Given the description of an element on the screen output the (x, y) to click on. 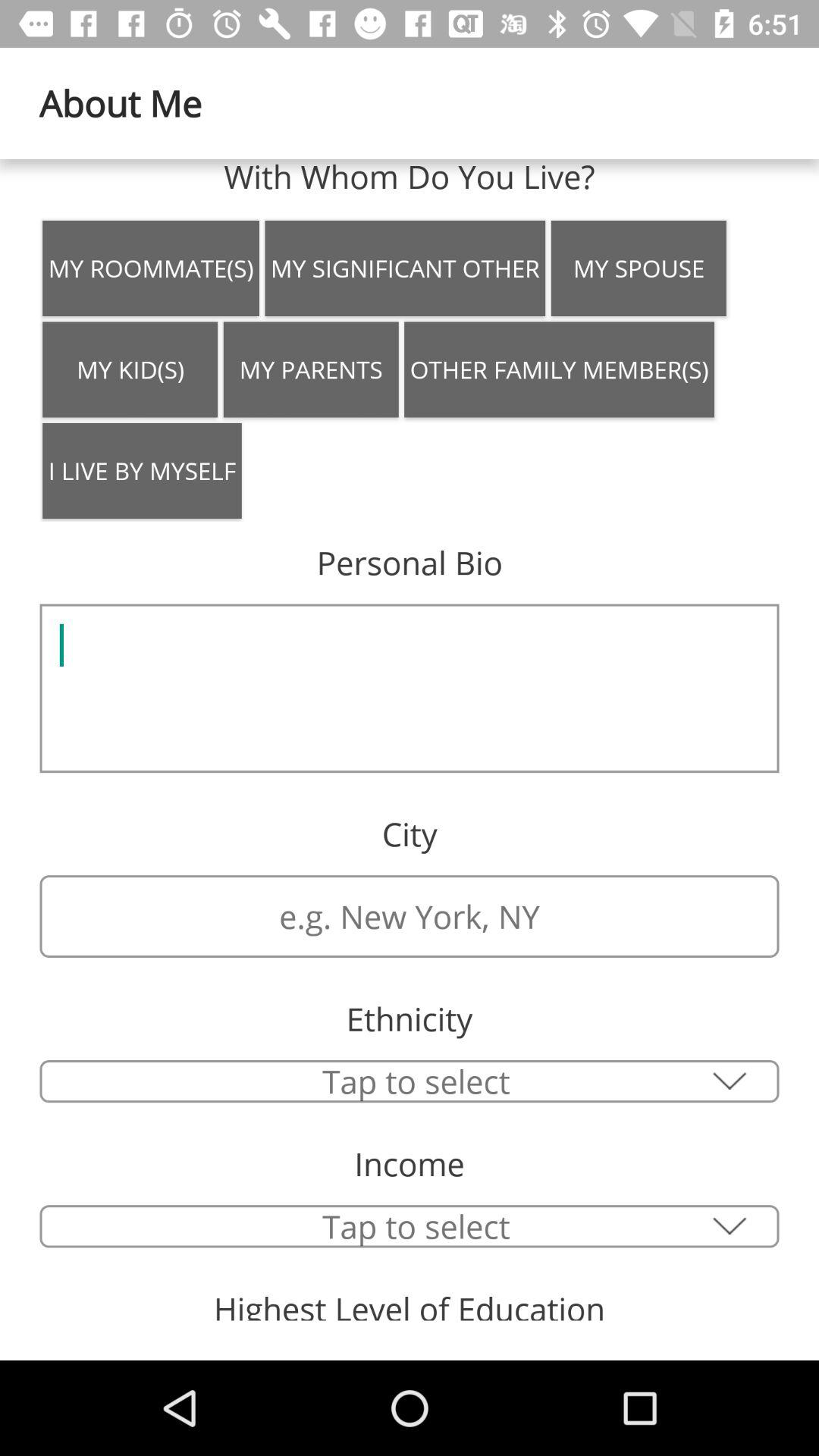
select icon above personal bio (141, 470)
